Given the description of an element on the screen output the (x, y) to click on. 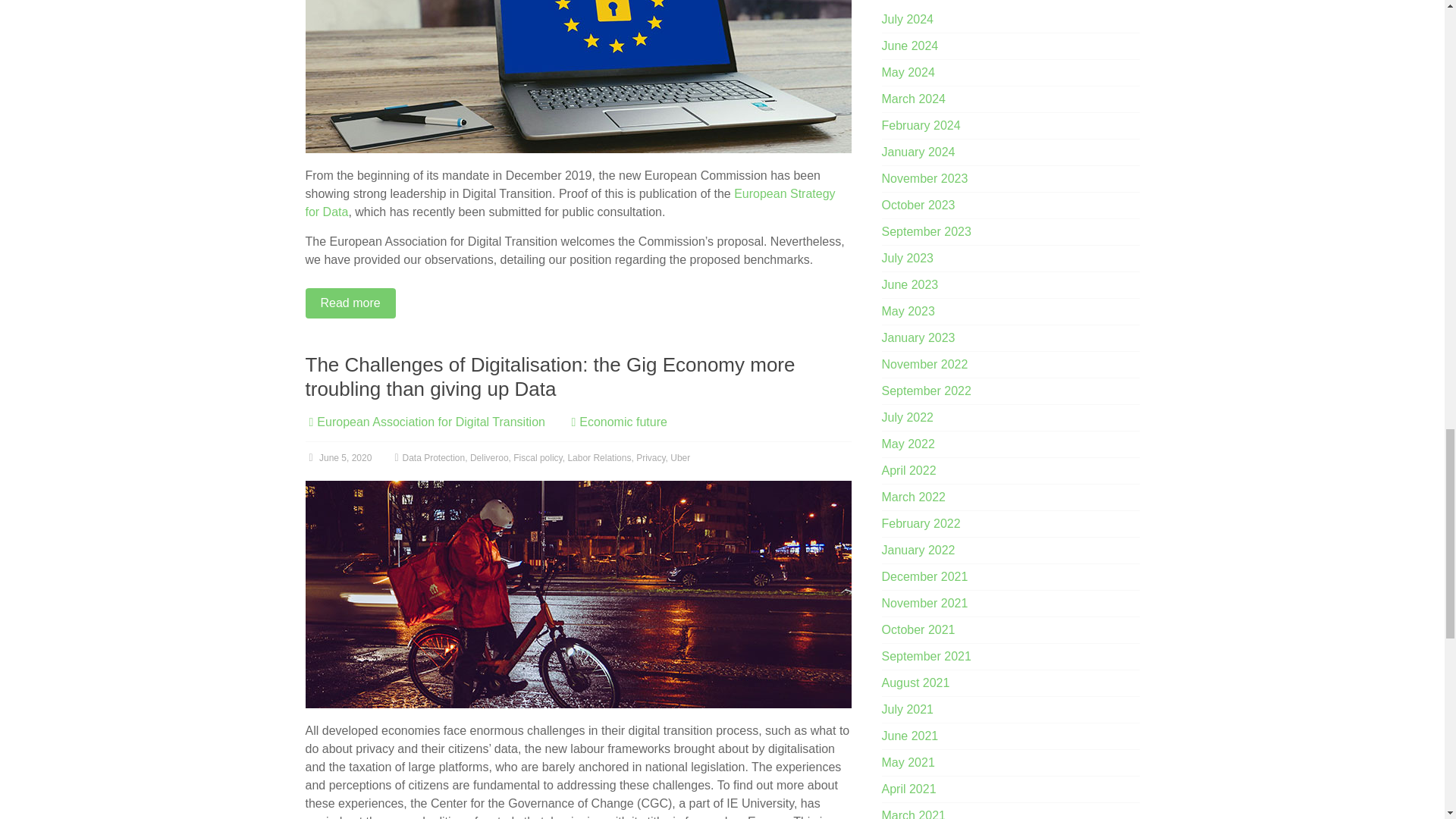
How we see the European Strategy for Data (577, 76)
